Given the description of an element on the screen output the (x, y) to click on. 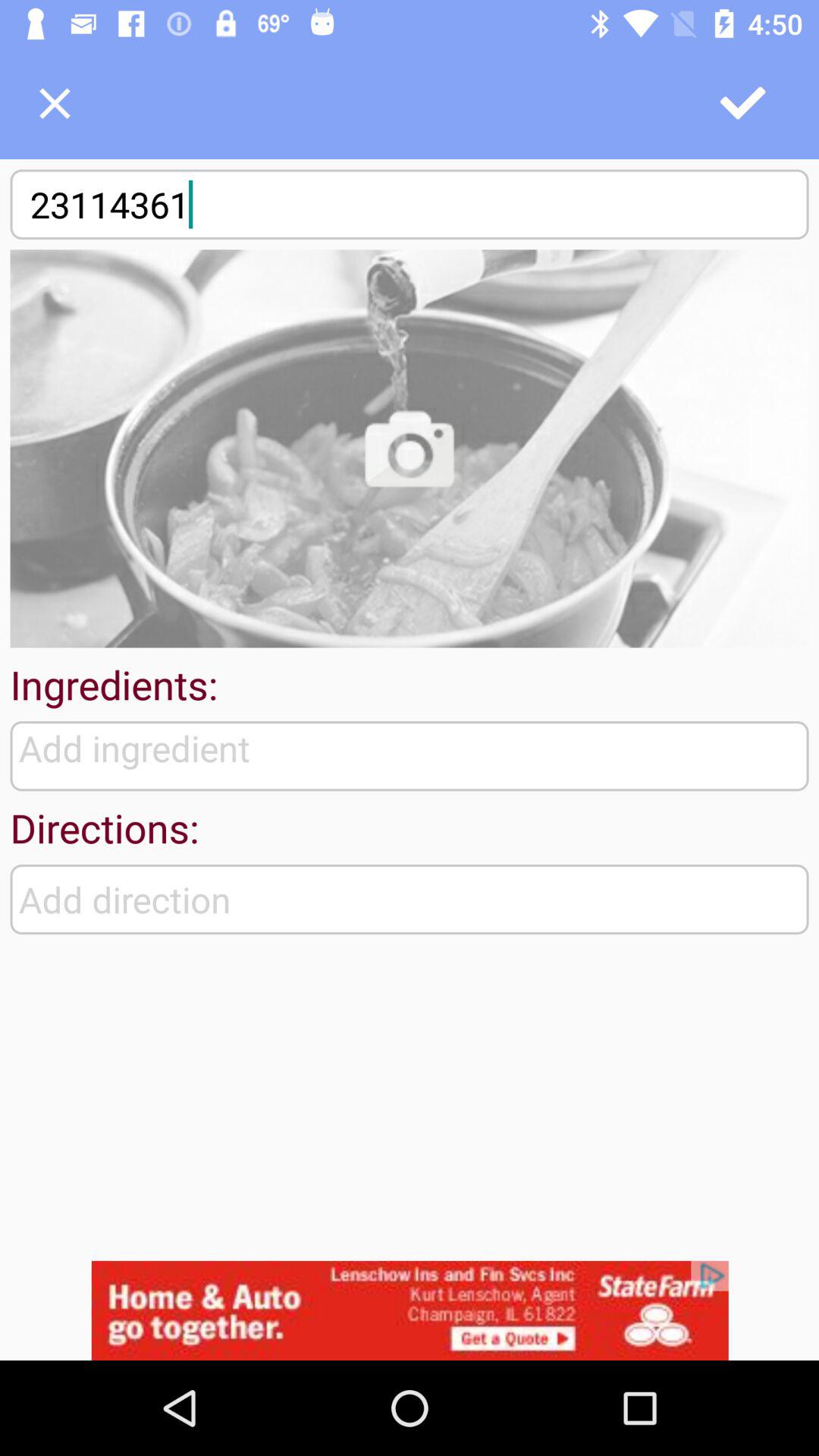
go to advertisement (409, 1310)
